Given the description of an element on the screen output the (x, y) to click on. 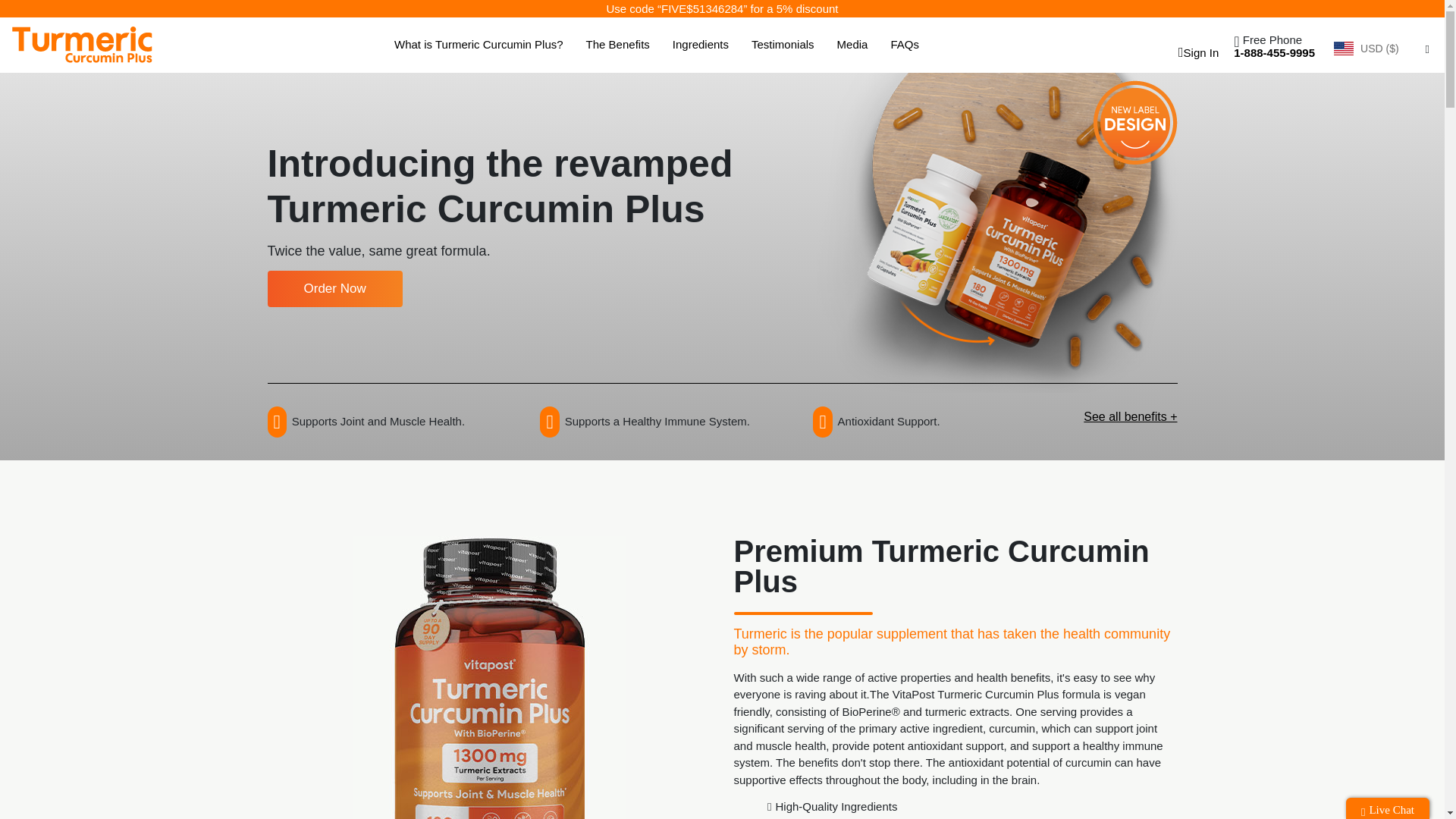
Ingredients (700, 45)
Order Now (333, 289)
Turmeric Curcumin Plus Official Logo (81, 44)
1-888-455-9995 (1273, 51)
What is Turmeric Curcumin Plus? (478, 45)
Sign In (1195, 51)
Media (852, 45)
FAQs (903, 45)
The Benefits (617, 45)
Testimonials (782, 45)
